Given the description of an element on the screen output the (x, y) to click on. 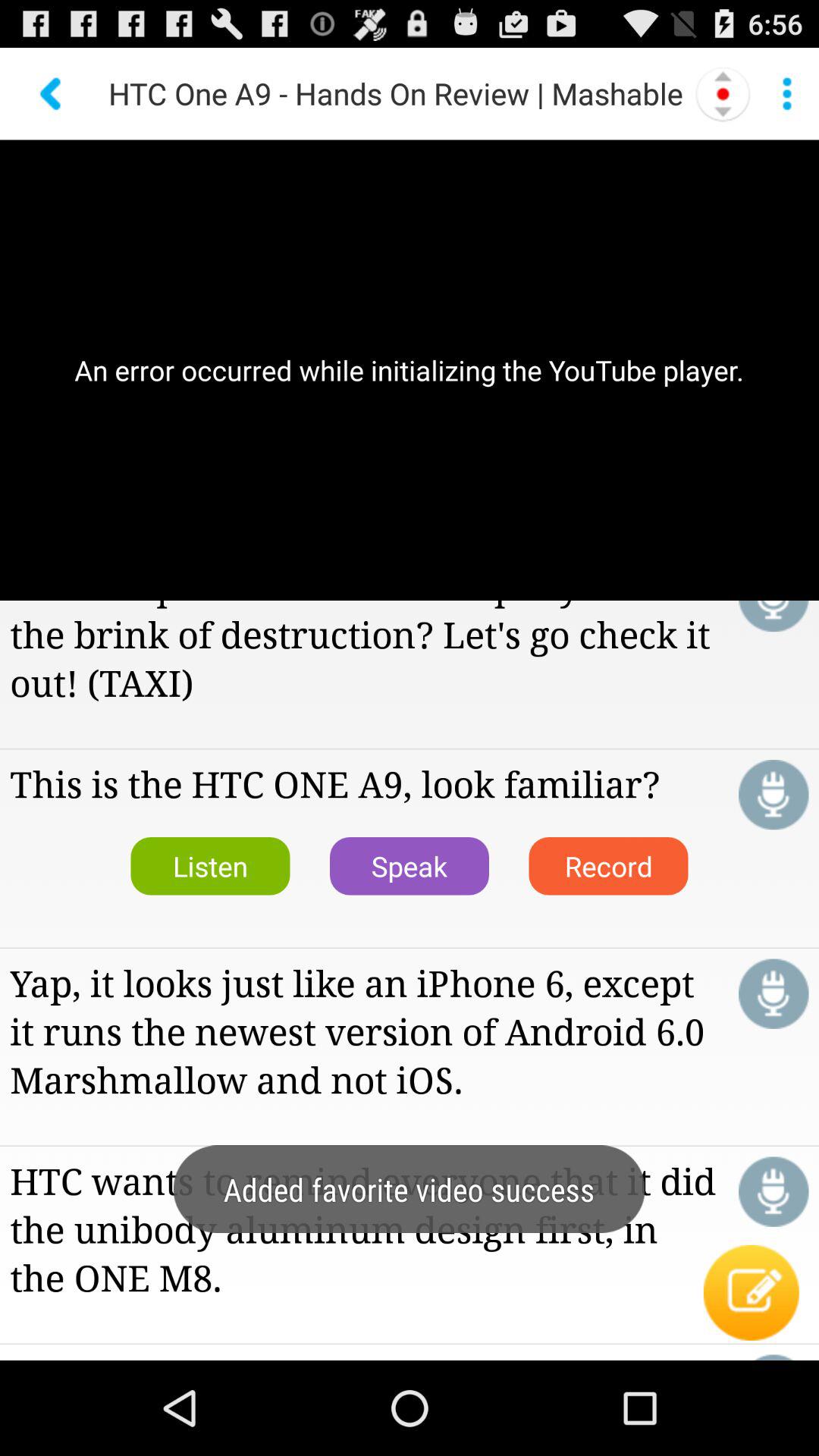
go to previous (52, 93)
